Given the description of an element on the screen output the (x, y) to click on. 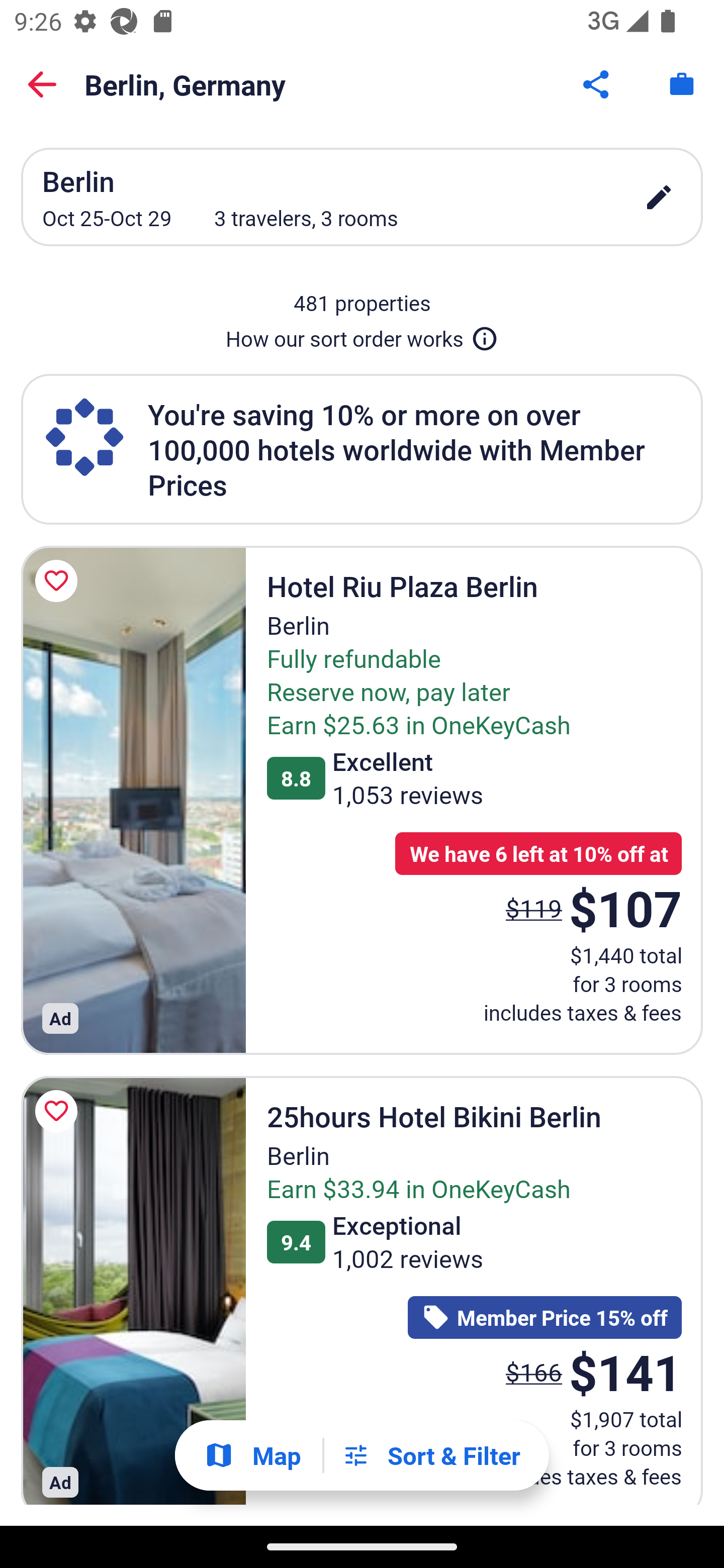
Back (42, 84)
Share Button (597, 84)
Trips. Button (681, 84)
Berlin Oct 25-Oct 29 3 travelers, 3 rooms edit (361, 196)
How our sort order works (361, 334)
Save Hotel Riu Plaza Berlin to a trip (59, 580)
Hotel Riu Plaza Berlin (133, 800)
$119 The price was $119 (533, 907)
Save 25hours Hotel Bikini Berlin to a trip (59, 1111)
25hours Hotel Bikini Berlin (133, 1290)
$166 The price was $166 (533, 1371)
Filters Sort & Filter Filters Button (430, 1455)
Show map Map Show map Button (252, 1455)
